Given the description of an element on the screen output the (x, y) to click on. 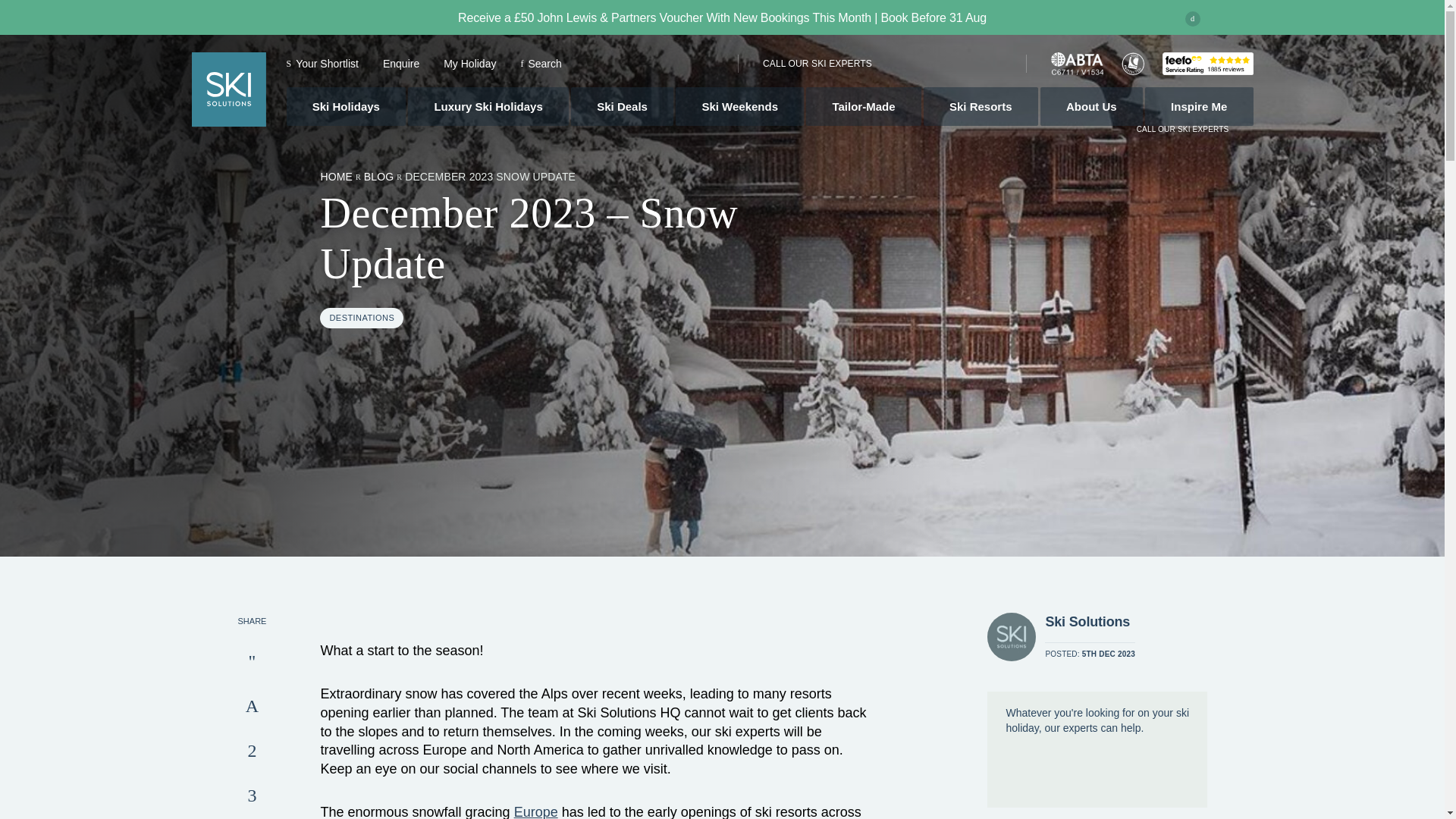
Tailor-Made (863, 106)
See what our customers say about us (1206, 63)
Tailor-Made (863, 106)
Luxury Ski Holidays (488, 106)
Ski Weekends (739, 106)
Search (539, 63)
Ski Holidays (346, 106)
Enquire (400, 63)
My Holiday (470, 63)
Inspire Me (1198, 106)
